Given the description of an element on the screen output the (x, y) to click on. 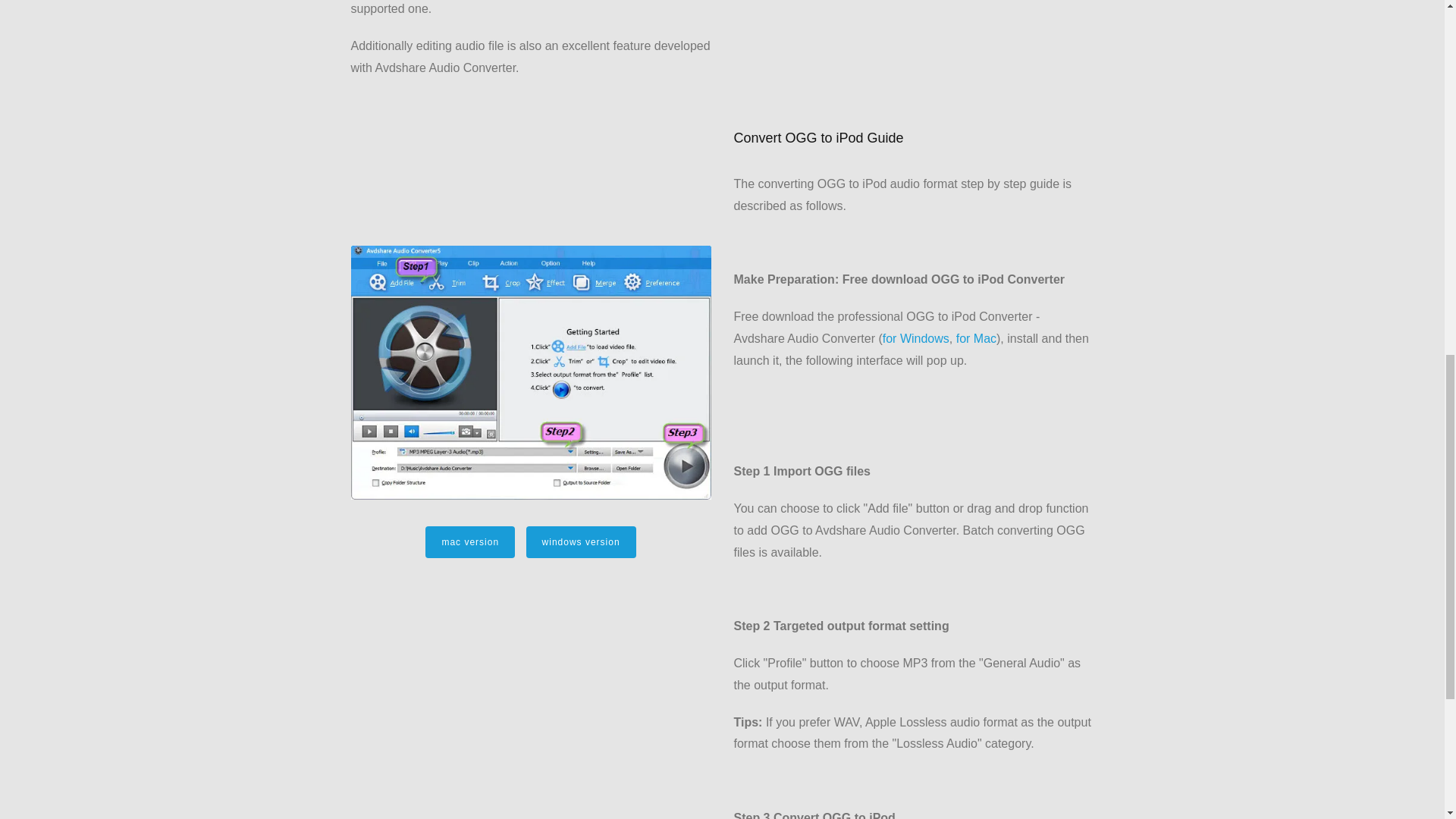
for Windows (915, 338)
mac version (470, 541)
for Mac (975, 338)
windows version (580, 541)
